Given the description of an element on the screen output the (x, y) to click on. 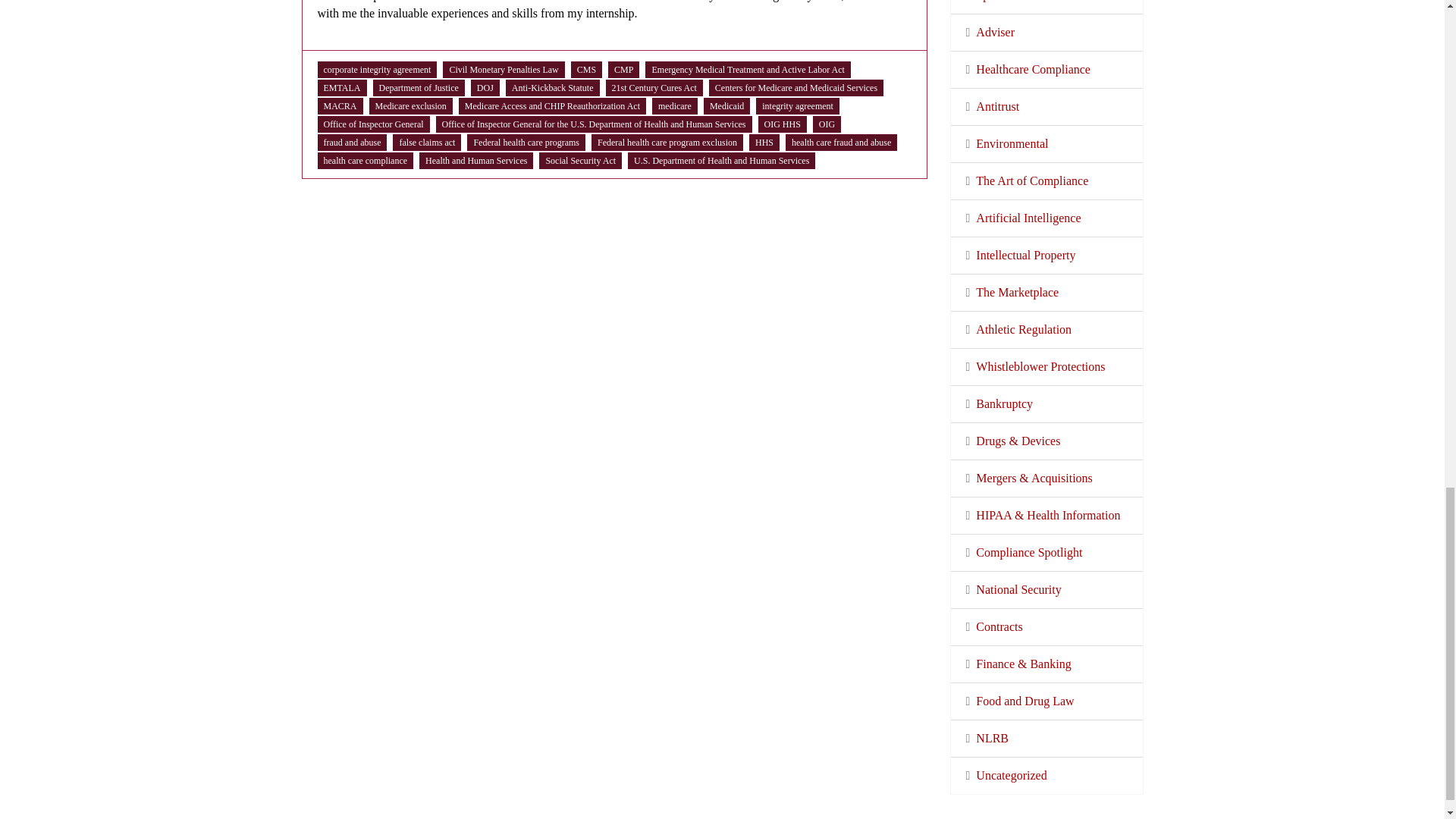
Emergency Medical Treatment and Active Labor Act (747, 69)
corporate integrity agreement (376, 69)
CMS (585, 69)
Civil Monetary Penalties Law (502, 69)
EMTALA (341, 87)
CMP (623, 69)
